Given the description of an element on the screen output the (x, y) to click on. 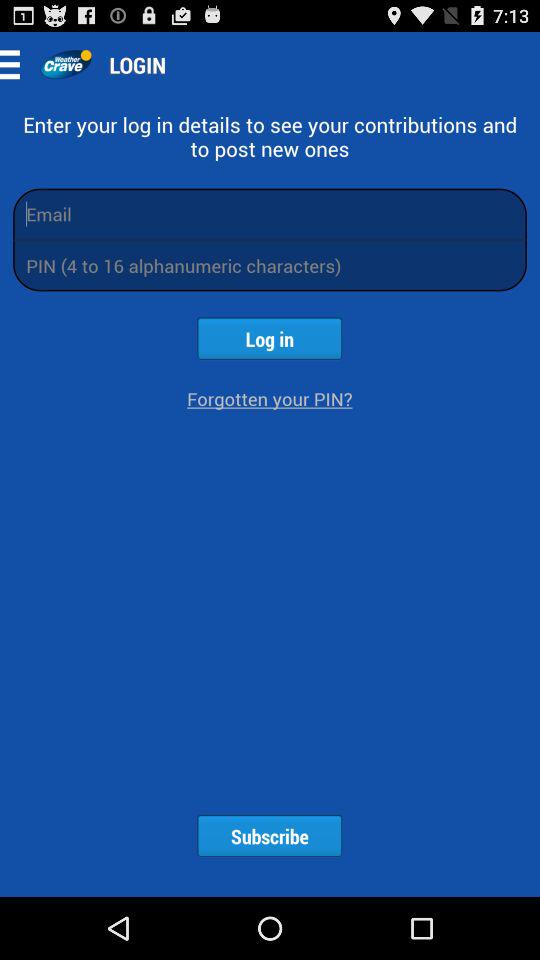
scroll to forgotten your pin? app (269, 398)
